Given the description of an element on the screen output the (x, y) to click on. 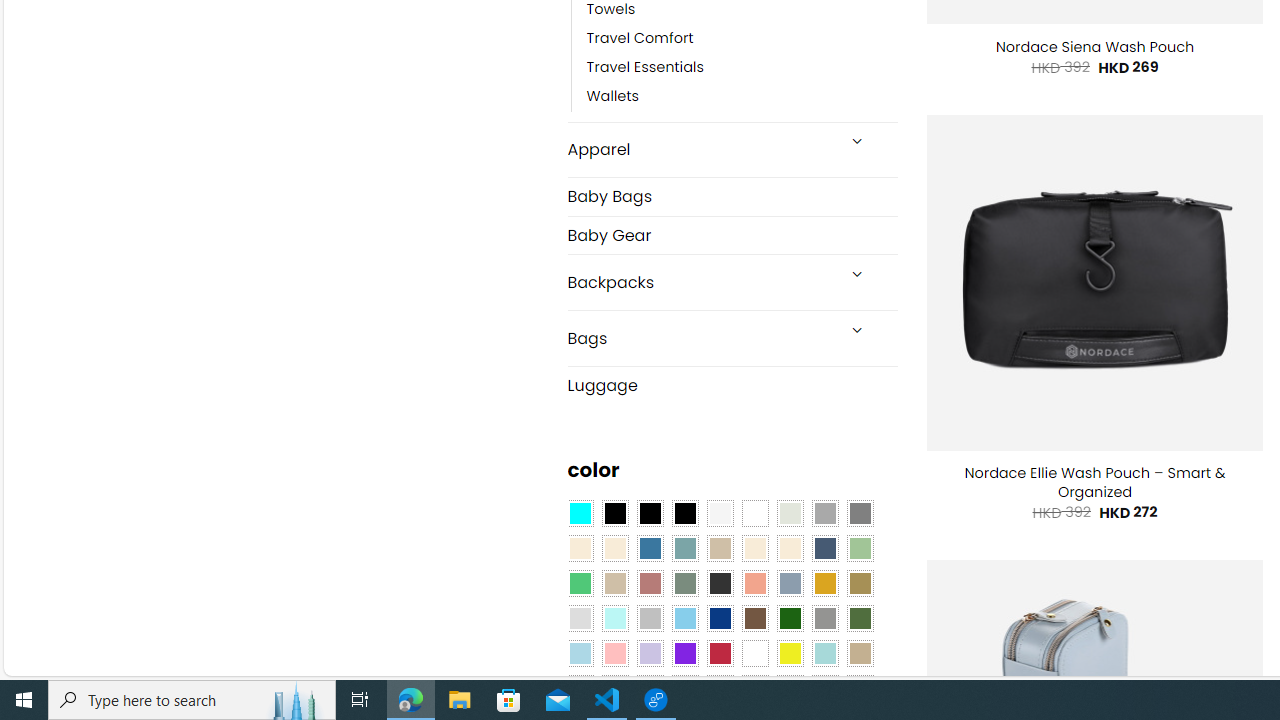
Rose (650, 583)
Travel Essentials (742, 67)
White (755, 653)
Red (719, 653)
Wallets (613, 97)
Beige-Brown (614, 548)
Navy Blue (719, 619)
Pearly White (719, 514)
Hale Navy (824, 548)
Wallets (742, 97)
Light Taupe (614, 583)
Aqua (824, 653)
Baby Gear (732, 235)
Backpacks (700, 282)
